Given the description of an element on the screen output the (x, y) to click on. 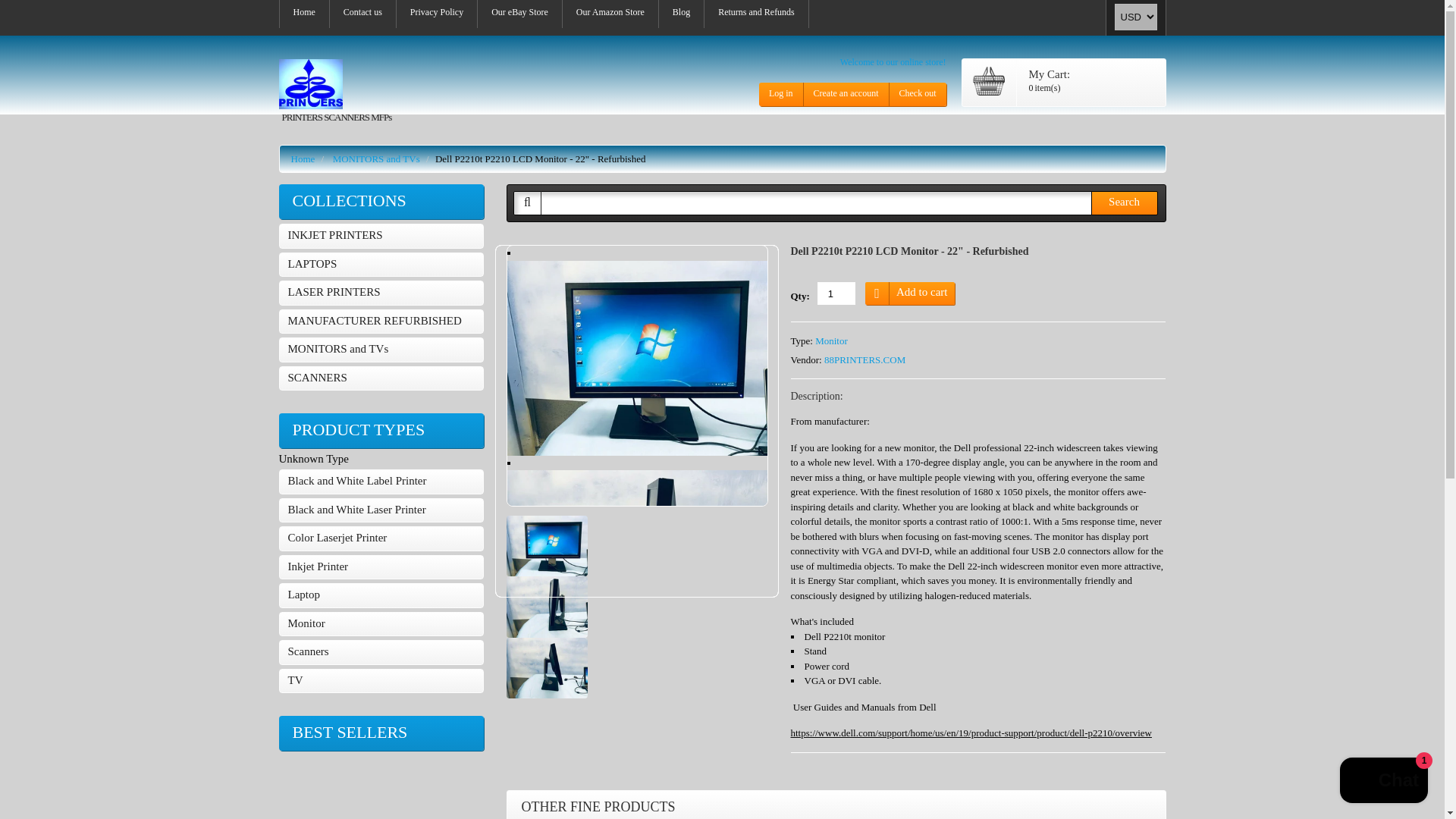
Back to the frontpage (303, 158)
Our eBay Store (519, 13)
Blog (681, 13)
Log in (780, 94)
Returns and Refunds (756, 13)
Search (1123, 202)
PRINTERS SCANNERS MFPs (335, 91)
Home (304, 13)
Home (303, 158)
Home (304, 13)
LASER PRINTERS (381, 292)
Privacy Policy (436, 13)
MANUFACTURER REFURBISHED (381, 321)
Returns and Refunds (756, 13)
Check out (916, 94)
